Given the description of an element on the screen output the (x, y) to click on. 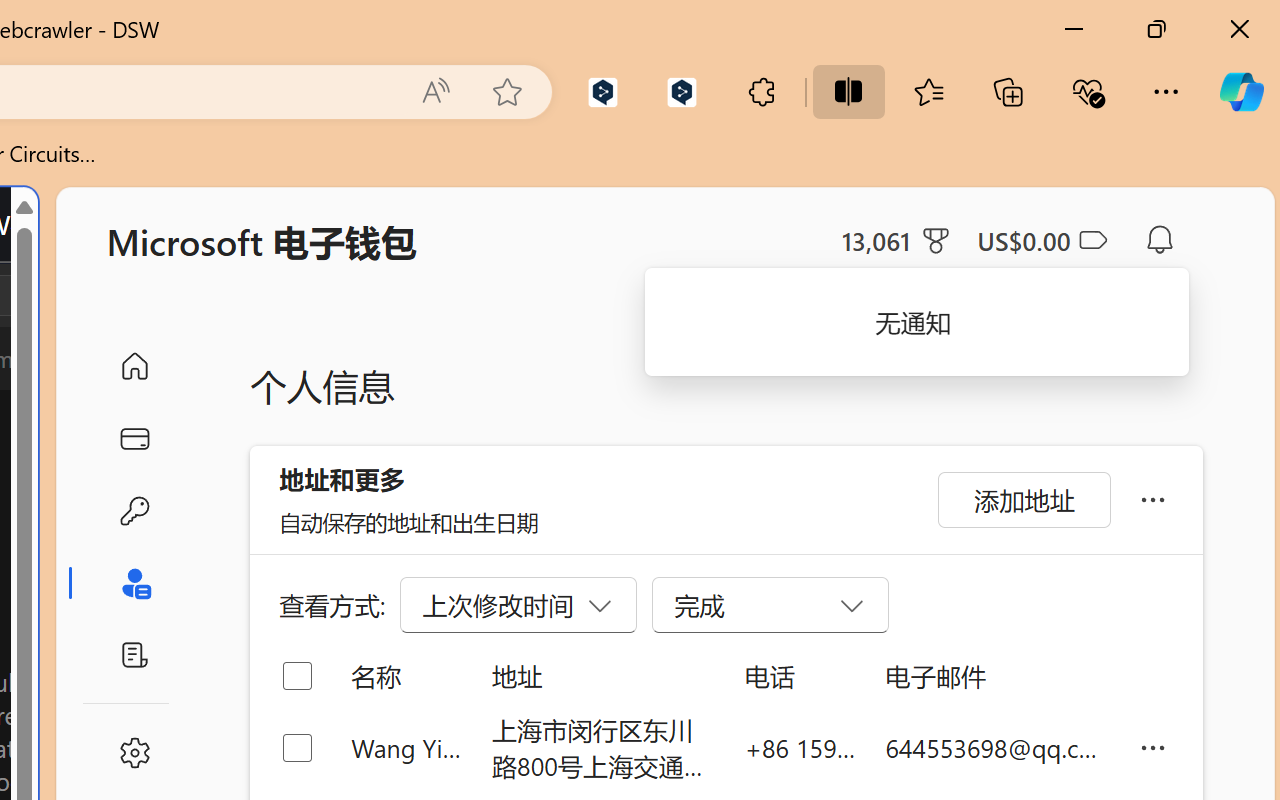
Class: actions-container (94, 295)
644553698@qq.com (996, 747)
Wang Yian (406, 747)
